Given the description of an element on the screen output the (x, y) to click on. 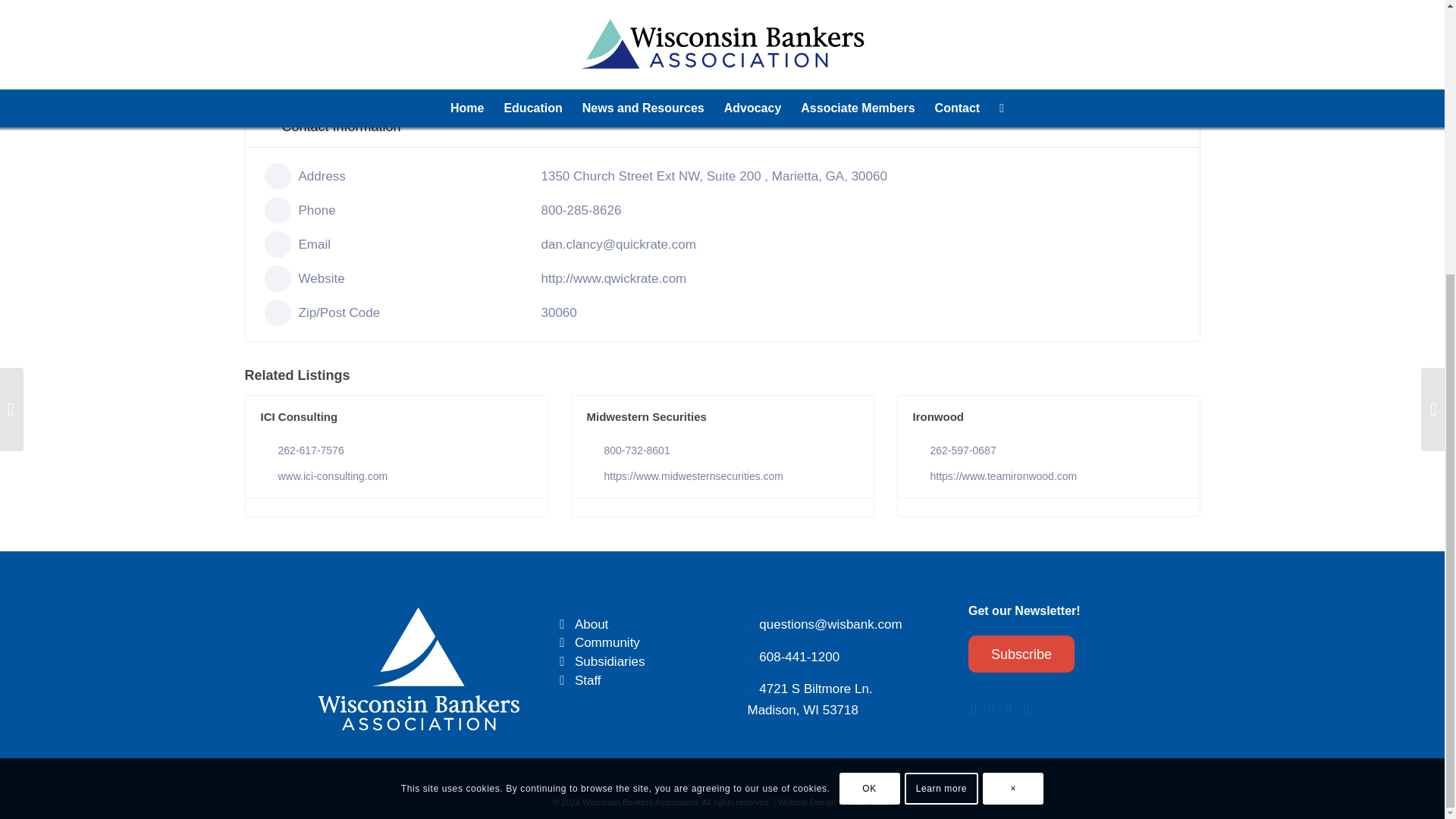
262-617-7576 (310, 451)
Subsidiaries (610, 661)
800-732-8601 (636, 451)
Community (607, 642)
Ironwood (937, 416)
ICI Consulting (298, 416)
800-285-8626 (581, 210)
www.ici-consulting.com (332, 476)
Staff (562, 681)
Community (562, 642)
262-597-0687 (962, 451)
Lending Services (722, 49)
Midwestern Securities (646, 416)
WBA-Wisconsin-bankers-association-Footer-logo (418, 668)
Consulting Services (416, 49)
